Given the description of an element on the screen output the (x, y) to click on. 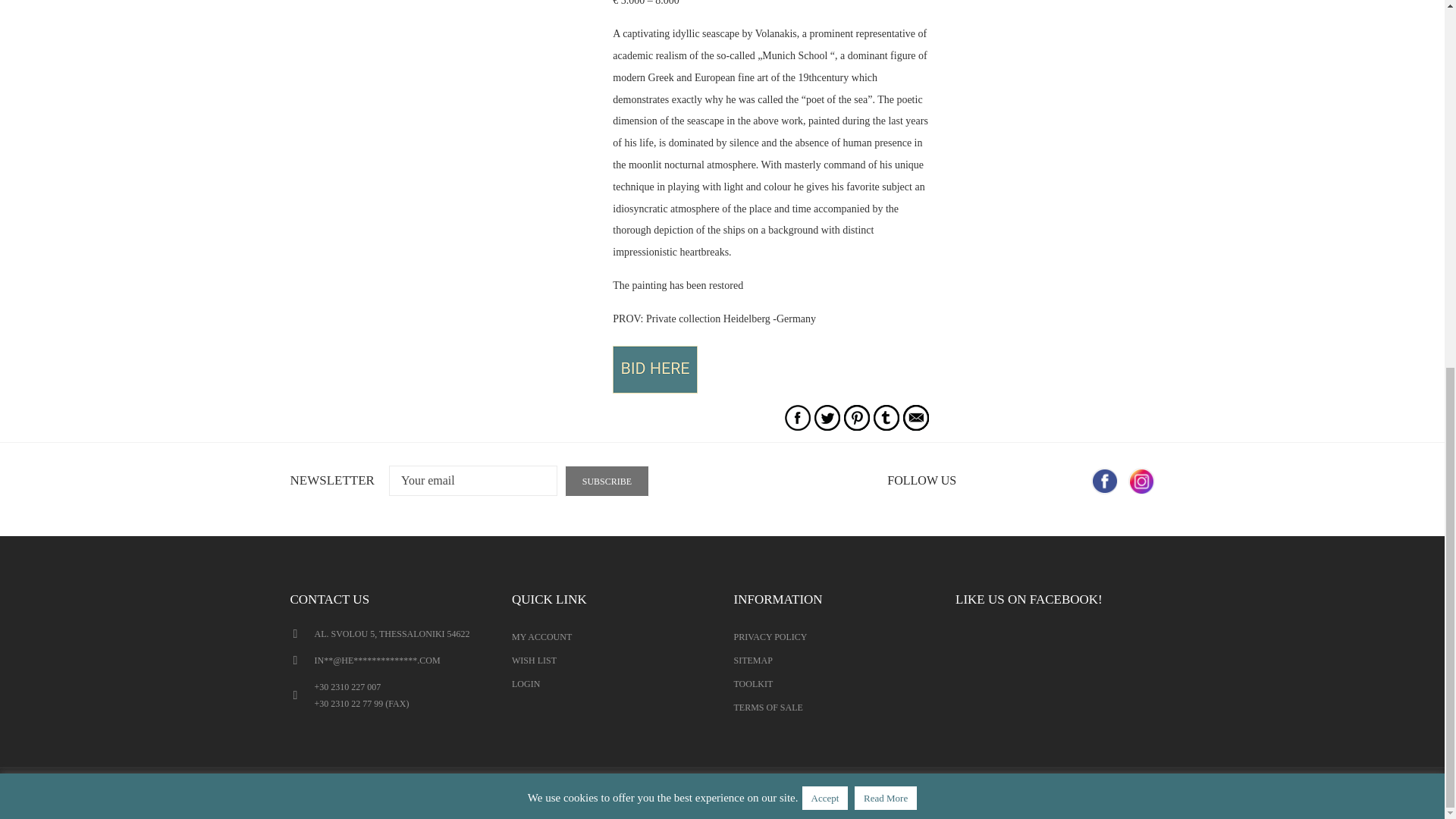
SUBSCRIBE (606, 481)
